Given the description of an element on the screen output the (x, y) to click on. 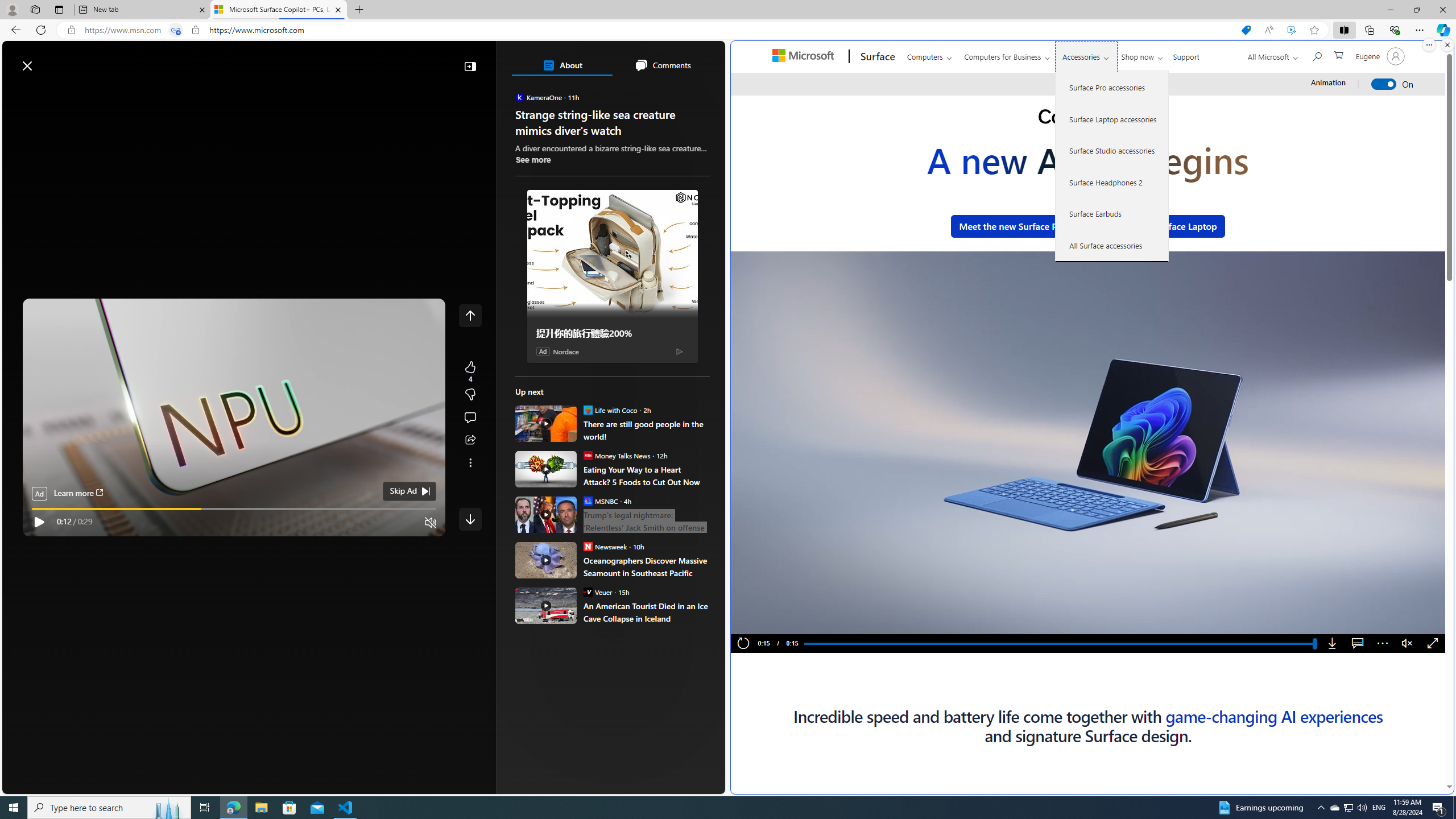
4 Like (469, 371)
MSNBC (587, 500)
Support (1185, 54)
Newsweek (587, 546)
Surface Laptop accessories (1112, 119)
Open navigation menu (16, 92)
All Surface accessories (1112, 245)
Life with Coco Life with Coco (609, 409)
